Given the description of an element on the screen output the (x, y) to click on. 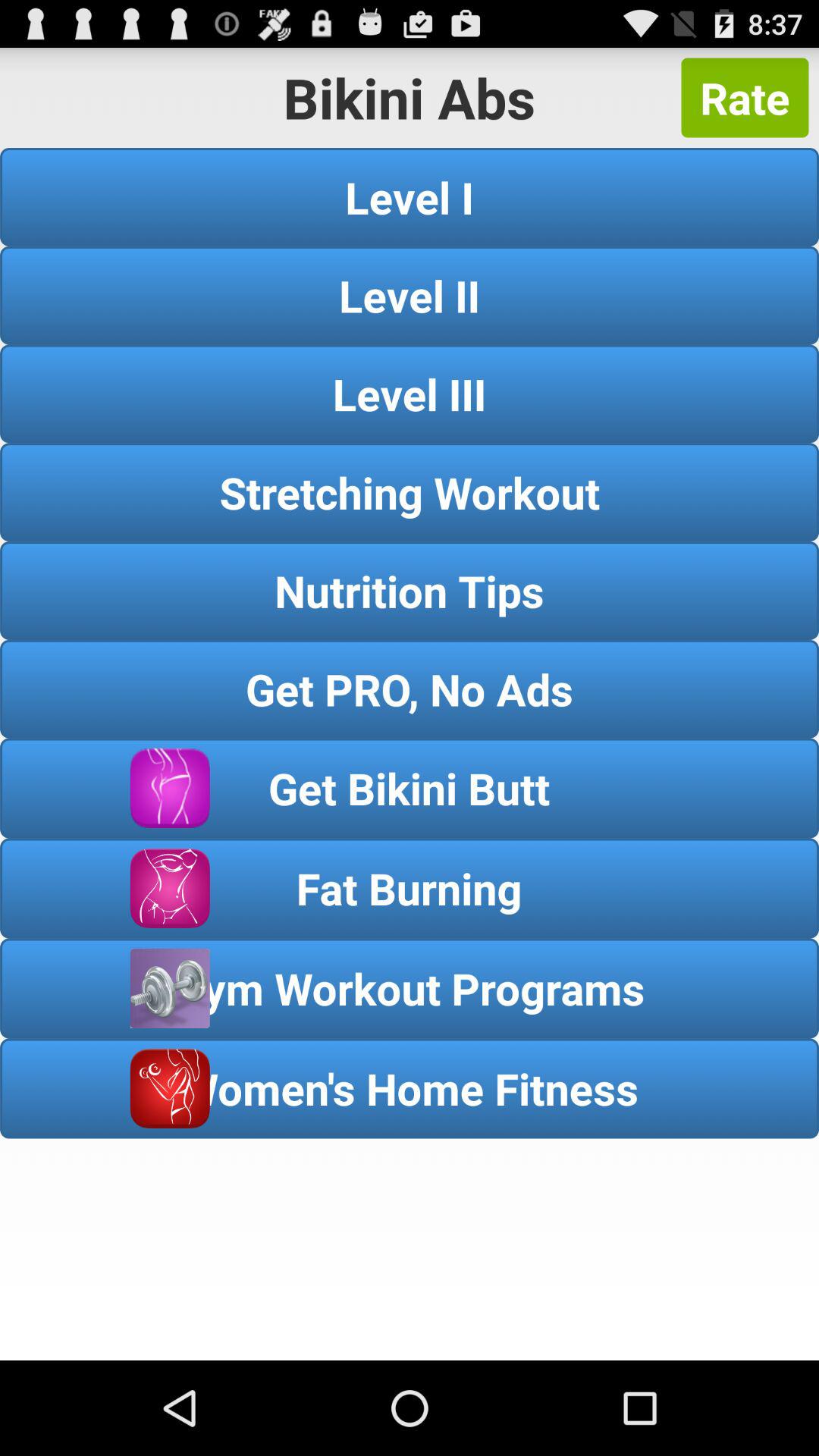
click the icon above level i button (744, 97)
